Given the description of an element on the screen output the (x, y) to click on. 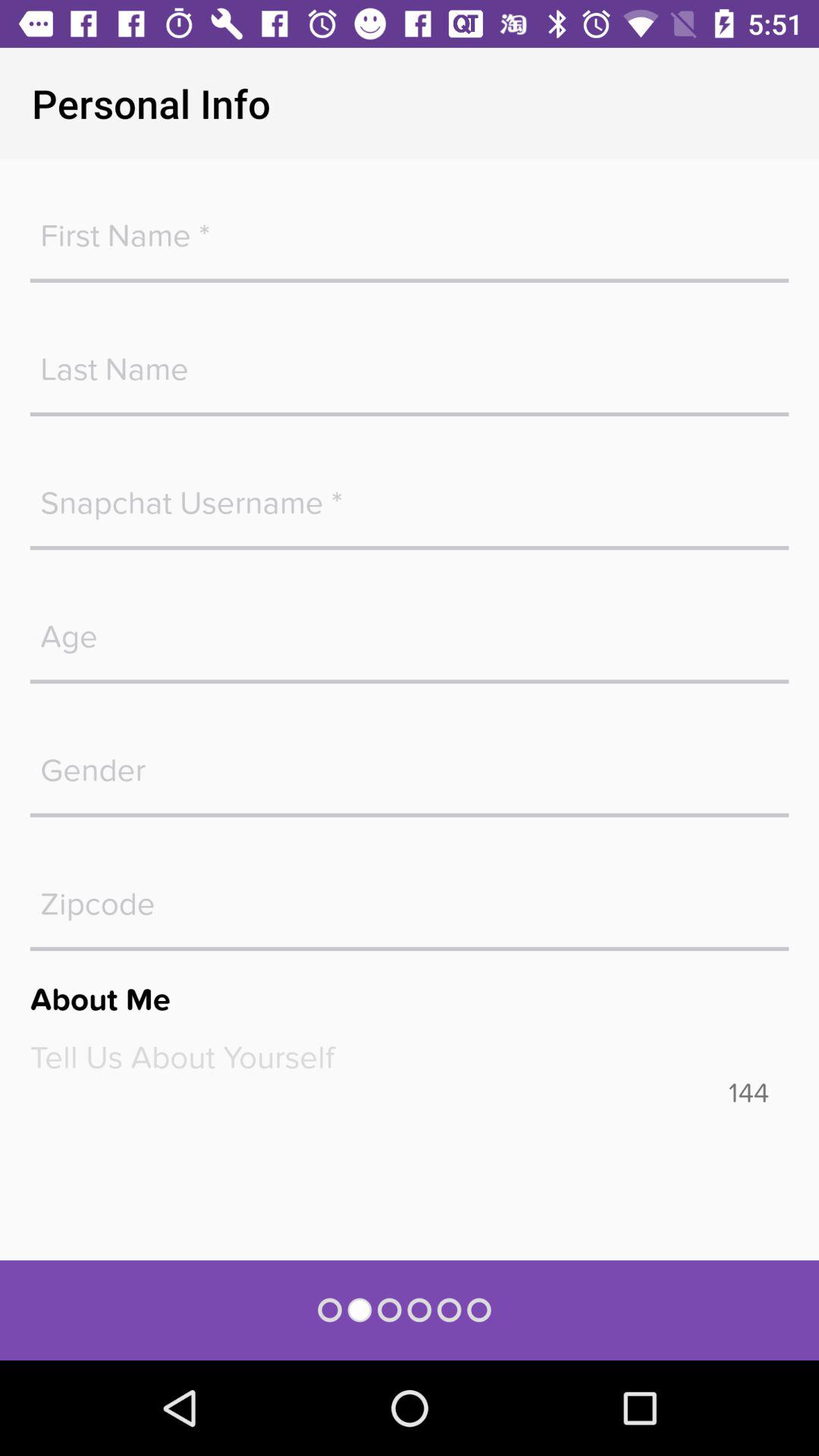
type in gender (409, 762)
